Given the description of an element on the screen output the (x, y) to click on. 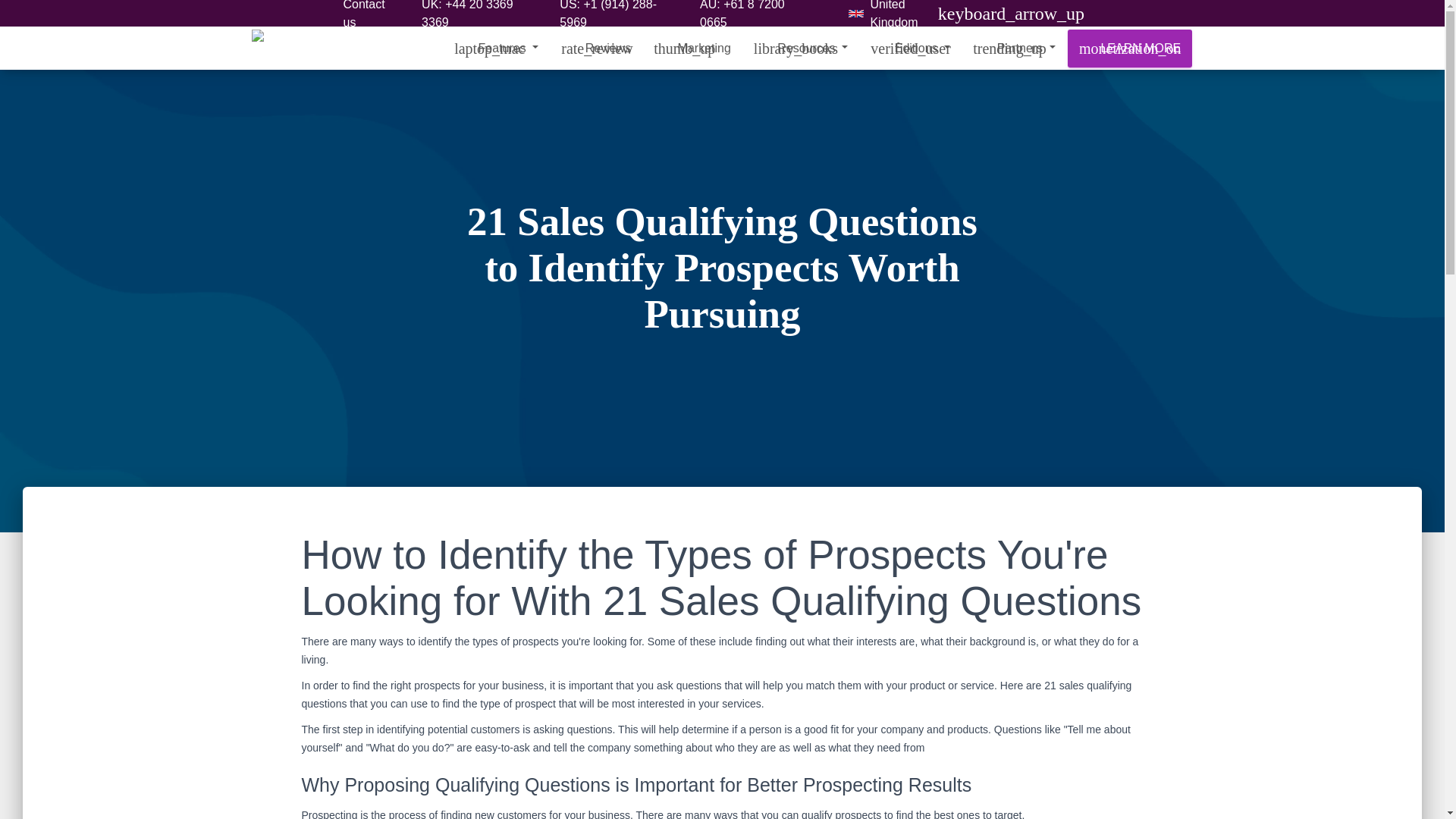
Contact us (369, 17)
